Given the description of an element on the screen output the (x, y) to click on. 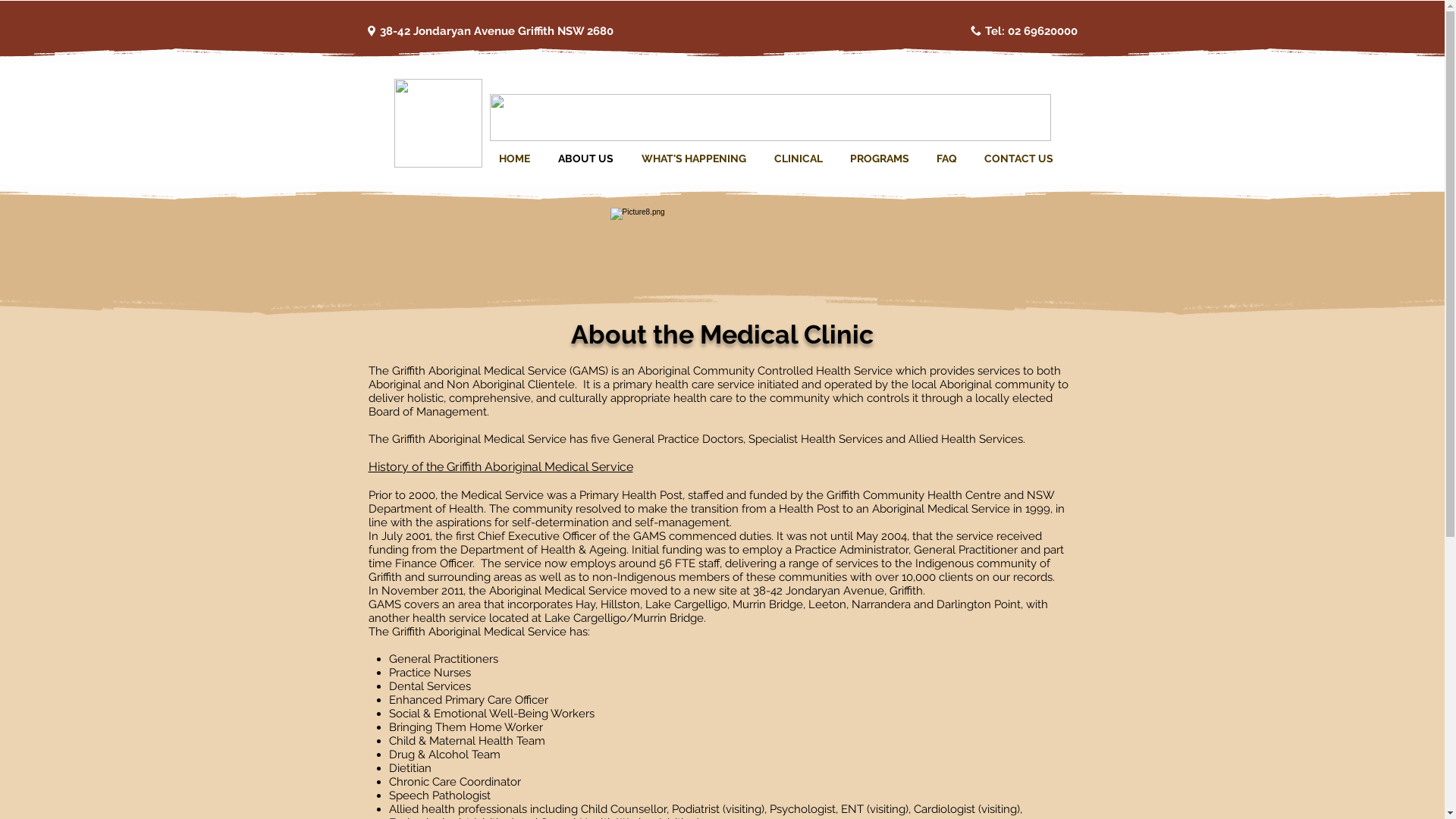
CONTACT US Element type: text (1018, 158)
CLINICAL Element type: text (797, 158)
WHAT'S HAPPENING Element type: text (693, 158)
HOME Element type: text (514, 158)
PROGRAMS Element type: text (878, 158)
FAQ Element type: text (945, 158)
ABOUT US Element type: text (585, 158)
Picture1.png Element type: hover (770, 117)
